Given the description of an element on the screen output the (x, y) to click on. 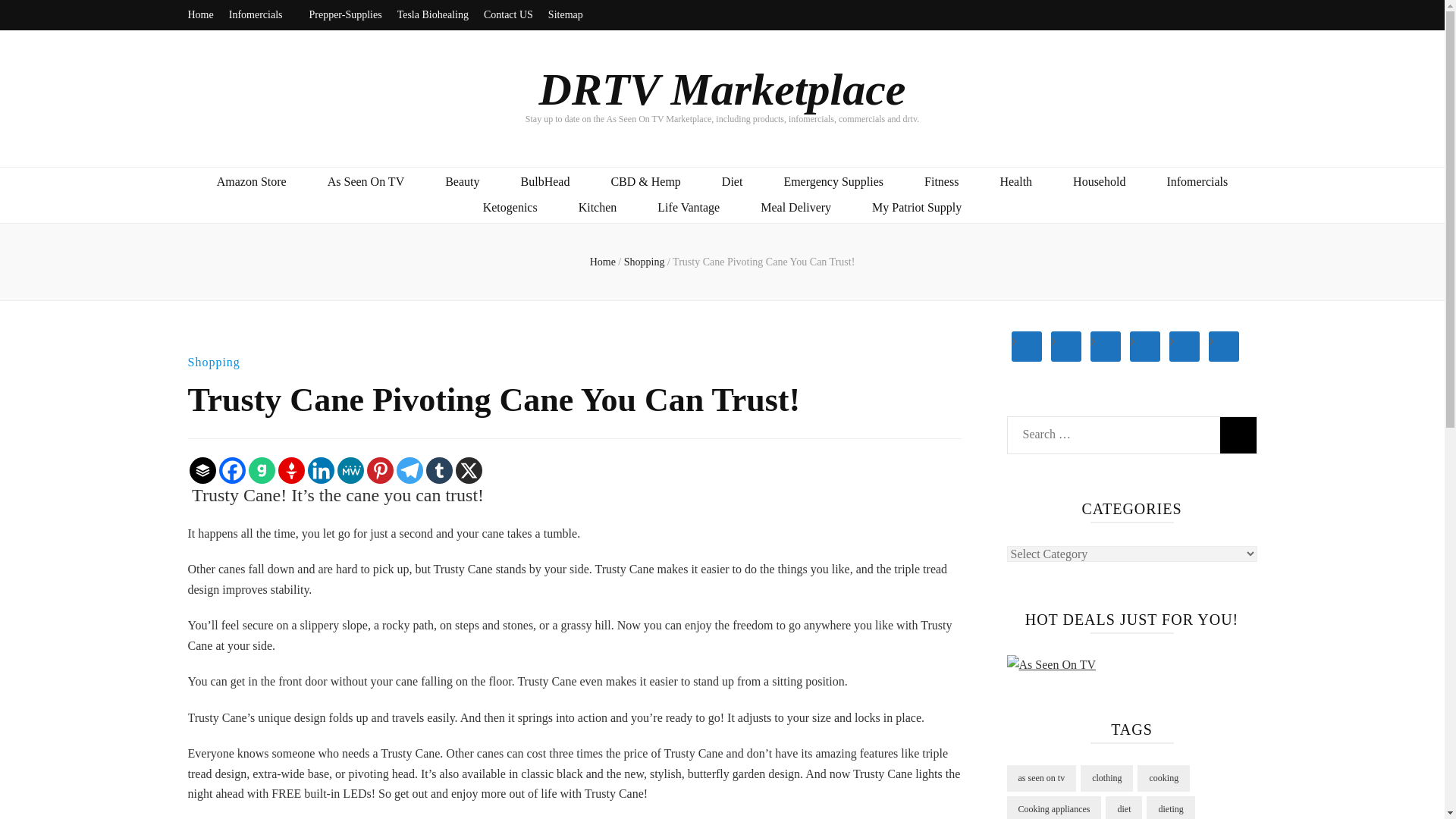
Facebook (231, 470)
Prepper-Supplies (344, 15)
Gab (261, 470)
BulbHead (545, 181)
Fitness (941, 181)
Infomercials (261, 15)
Search (1237, 434)
Ketogenics (510, 208)
Diet (732, 181)
Tumblr (439, 470)
